Given the description of an element on the screen output the (x, y) to click on. 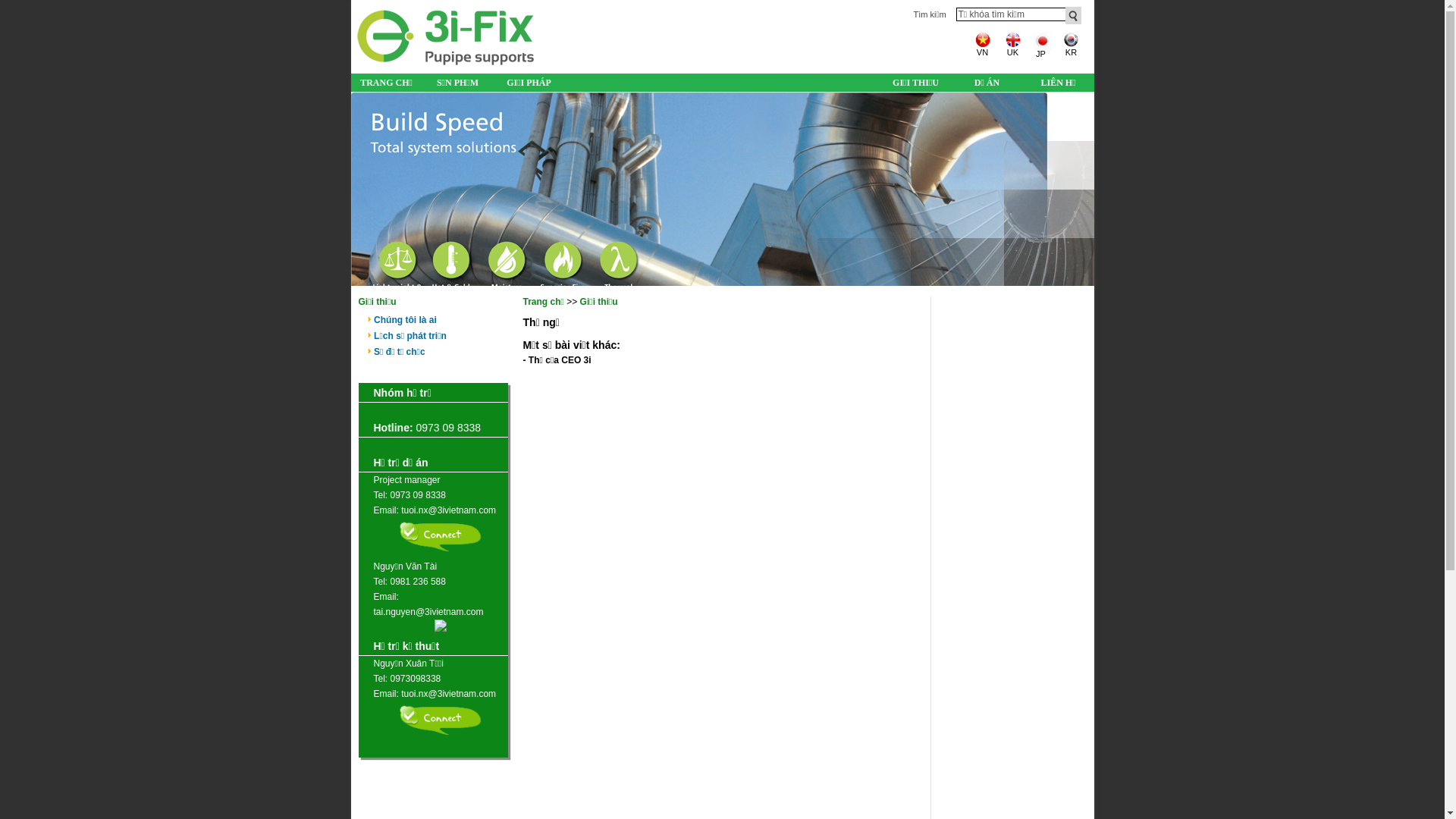
logo chinh thuc Element type: hover (444, 64)
Bannerr chong chay Element type: hover (721, 188)
Hotline: Element type: text (392, 427)
